Given the description of an element on the screen output the (x, y) to click on. 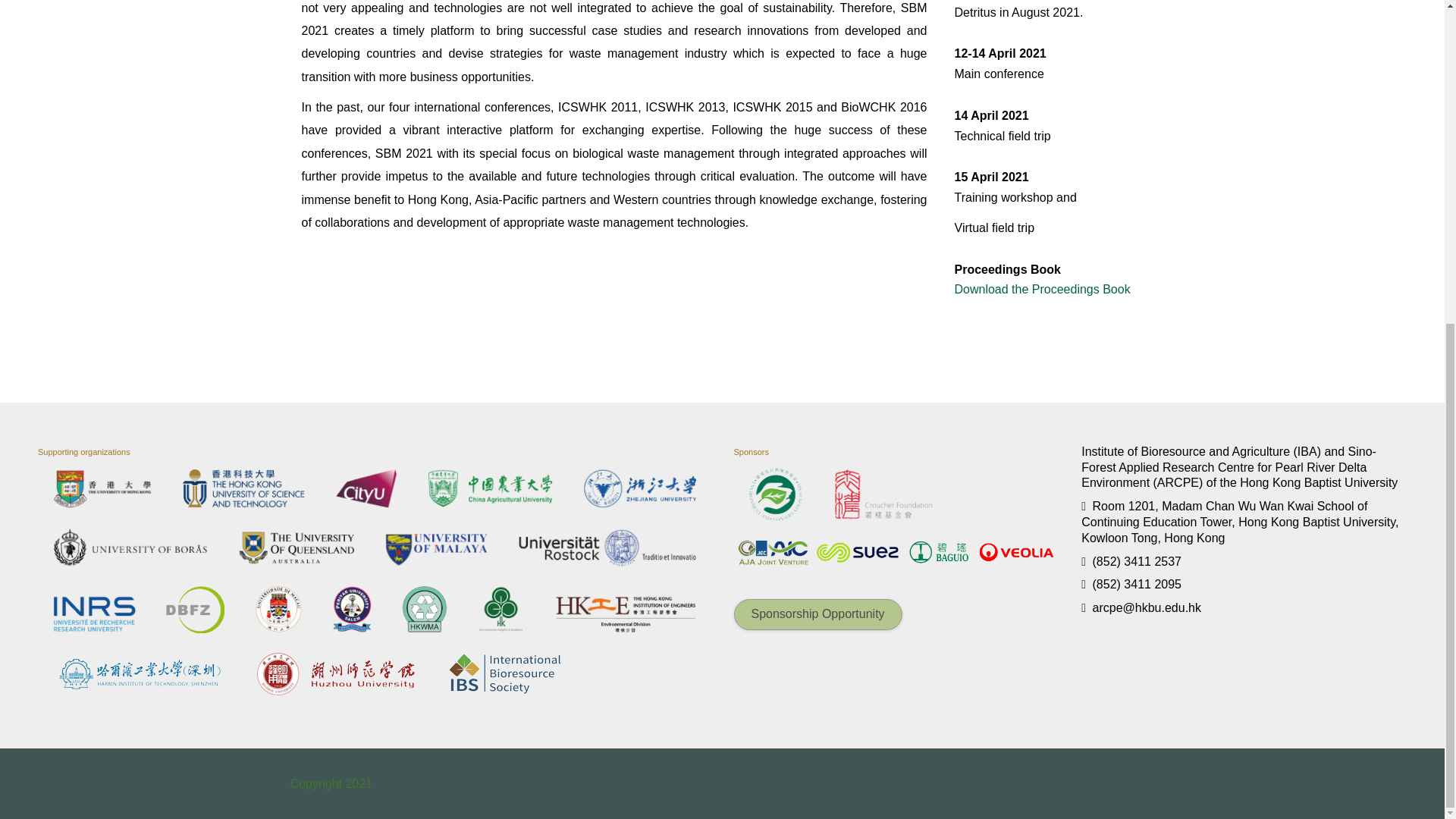
roceedings Book (1084, 288)
Download the P (996, 288)
Sponsorship Opportunity (817, 613)
